Given the description of an element on the screen output the (x, y) to click on. 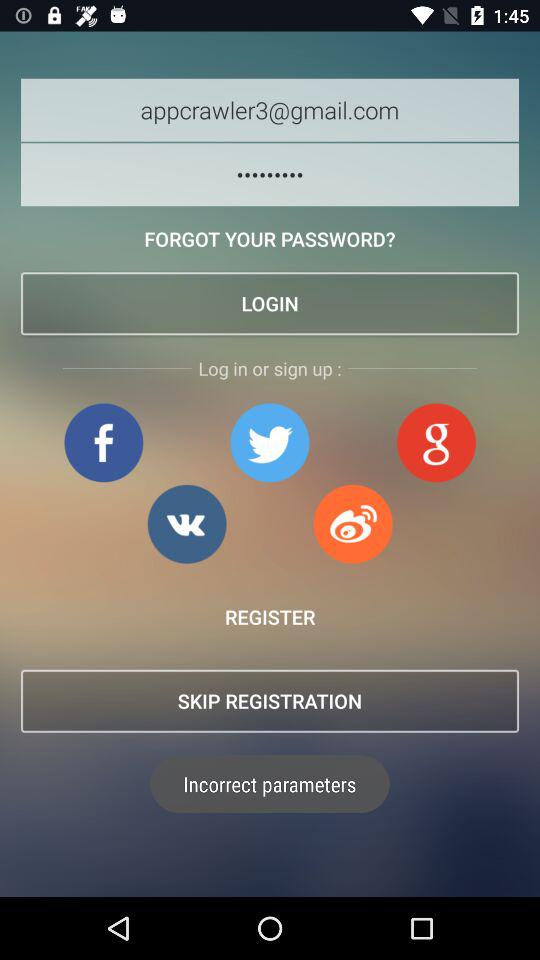
wifi user (353, 523)
